Given the description of an element on the screen output the (x, y) to click on. 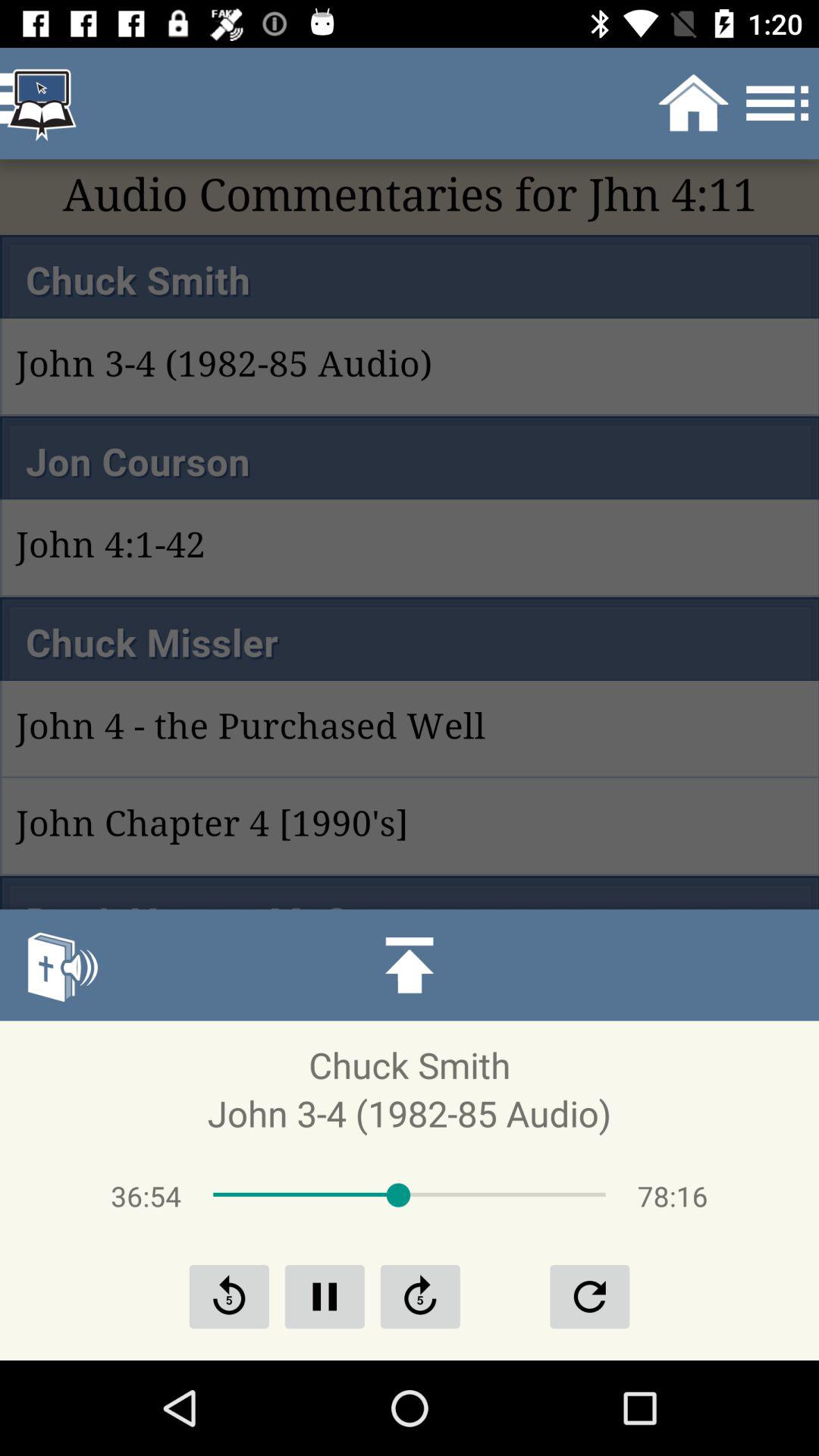
open the icon above chuck smith icon (409, 965)
